Given the description of an element on the screen output the (x, y) to click on. 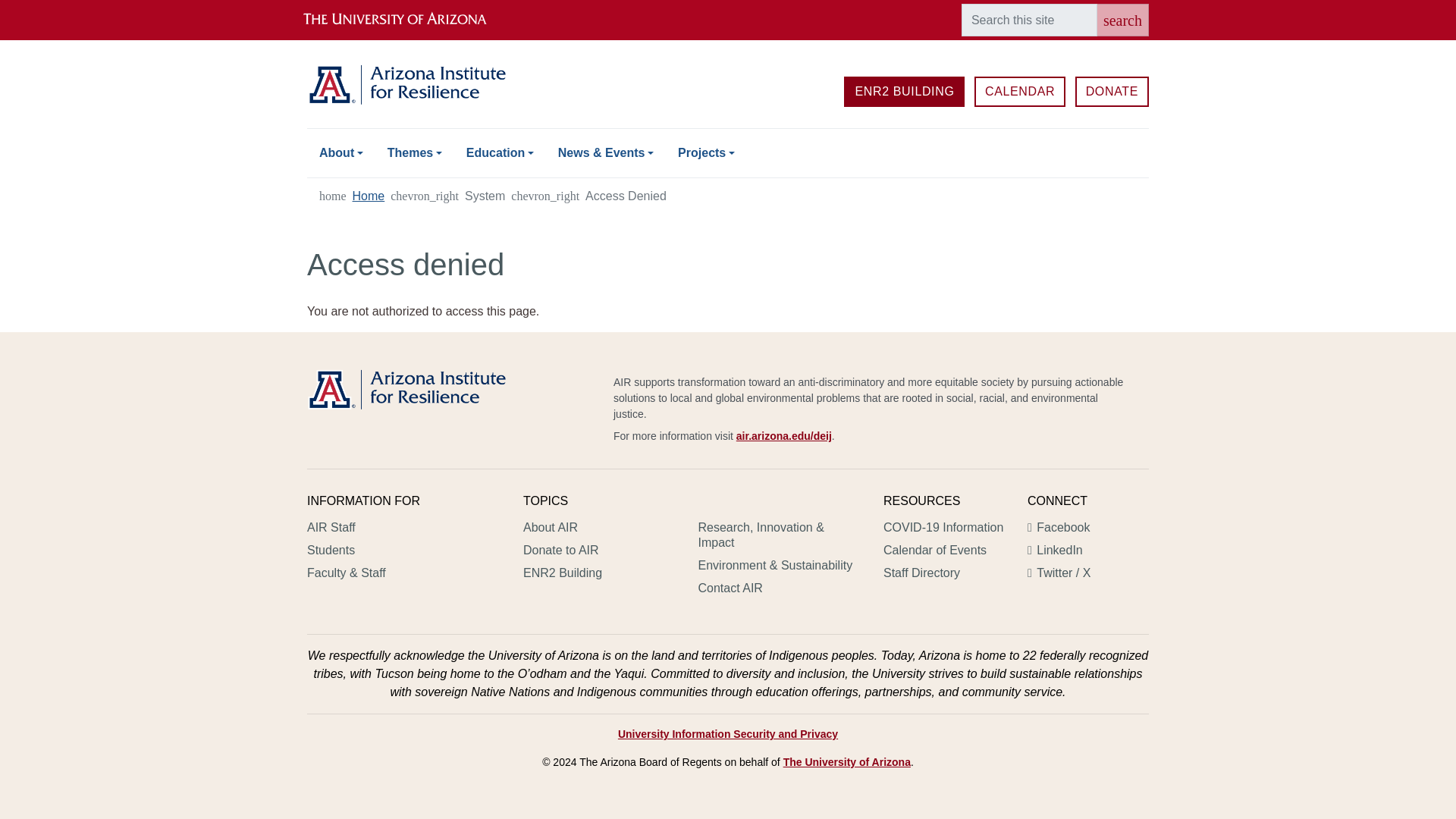
DONATE (1111, 91)
About (341, 152)
ENR2 (903, 91)
Donate to AIR (1111, 91)
ENR2 BUILDING (903, 91)
Skip to main content (727, 1)
Enter the terms you wish to search for. (1028, 20)
Education (500, 152)
CALENDAR (1019, 91)
Diversity, Equity, Inclusion, and Justice (783, 435)
search (1122, 20)
The University of Arizona homepage (407, 20)
Themes (414, 152)
